Given the description of an element on the screen output the (x, y) to click on. 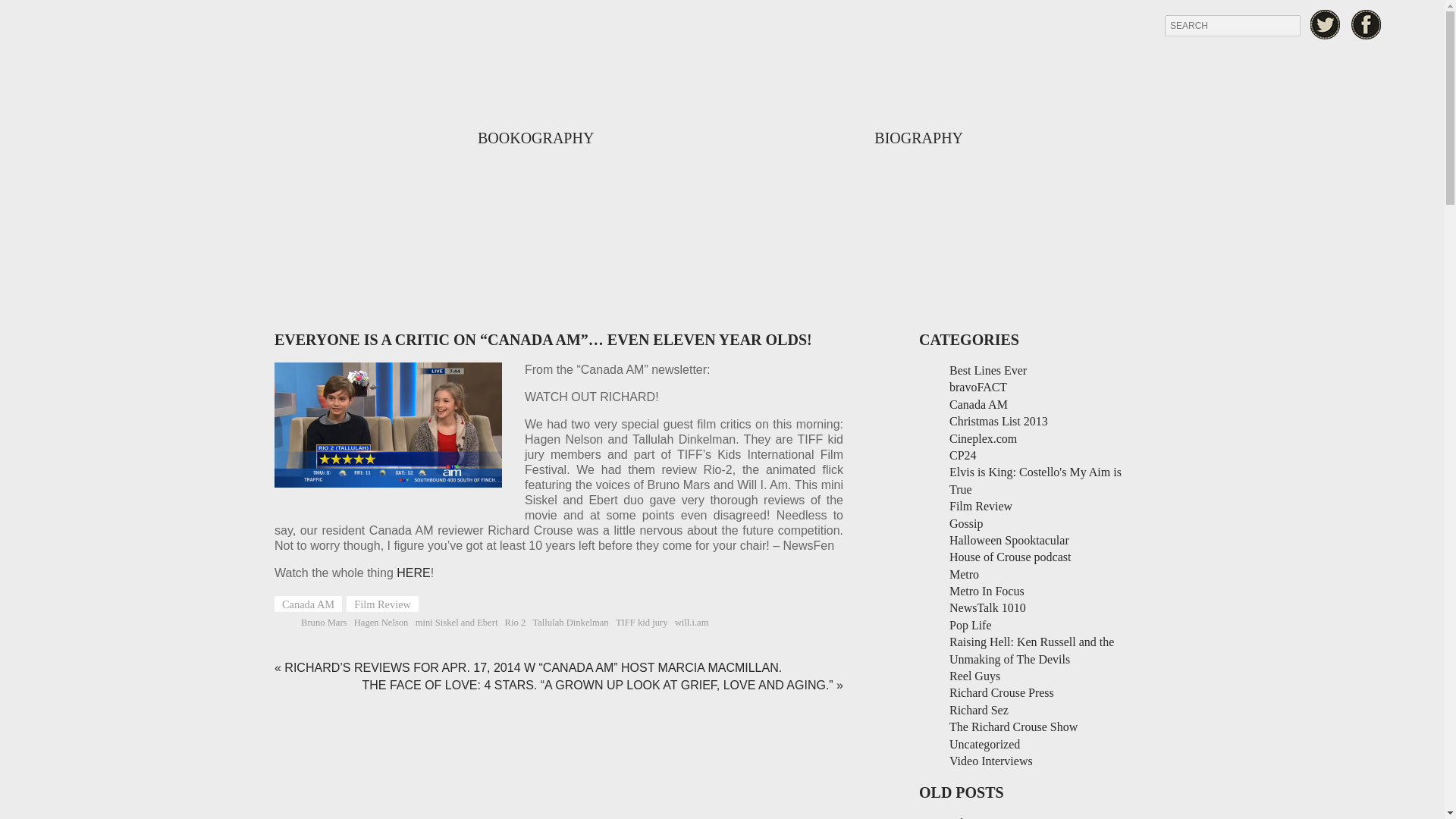
mini Siskel and Ebert (455, 622)
Twitter (1324, 24)
Hagen Nelson (381, 622)
Raising Hell: Ken Russell and the Unmaking of The Devils (1031, 650)
House of Crouse podcast (1009, 556)
BOOKOGRAPHY (535, 137)
Gossip (965, 522)
Richard Crouse (721, 137)
Canada AM (978, 404)
Cineplex.com (982, 438)
CP24 (962, 454)
Video Interviews (990, 760)
TIFF kid jury (641, 622)
NewsTalk 1010 (987, 607)
Rio 2 (515, 622)
